Given the description of an element on the screen output the (x, y) to click on. 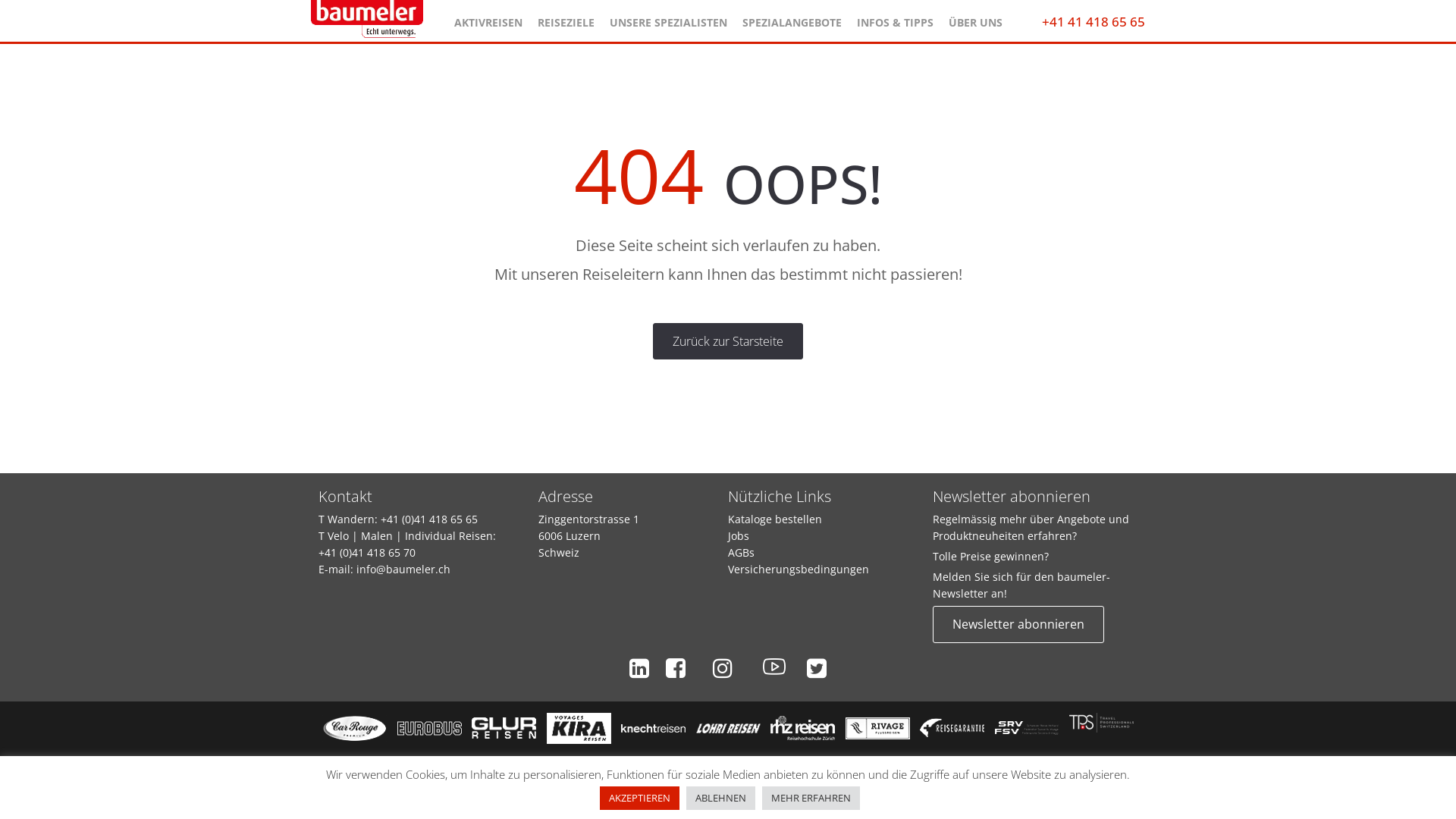
Jobs Element type: text (738, 535)
AKTIVREISEN Element type: text (487, 18)
Reisegutschein Element type: text (767, 762)
Impressum Element type: text (600, 762)
+41 (0)41 418 65 65 Element type: text (428, 518)
Datenschutz Element type: text (679, 762)
+41 (0)41 418 65 70 Element type: text (366, 552)
INFOS & TIPPS Element type: text (895, 18)
+41 41 418 65 65 Element type: text (1093, 21)
REISEZIELE Element type: text (565, 18)
Kataloge bestellen Element type: text (775, 518)
AKZEPTIEREN Element type: text (639, 797)
MEHR ERFAHREN Element type: text (810, 797)
info@baumeler.ch Element type: text (403, 568)
SPEZIALANGEBOTE Element type: text (791, 18)
UNSERE SPEZIALISTEN Element type: text (668, 18)
Newsletter abonnieren Element type: text (1018, 623)
AGBs Element type: text (741, 552)
ABLEHNEN Element type: text (720, 797)
Versicherungsbedingungen Element type: text (798, 568)
Rechtliches Element type: text (854, 762)
